Given the description of an element on the screen output the (x, y) to click on. 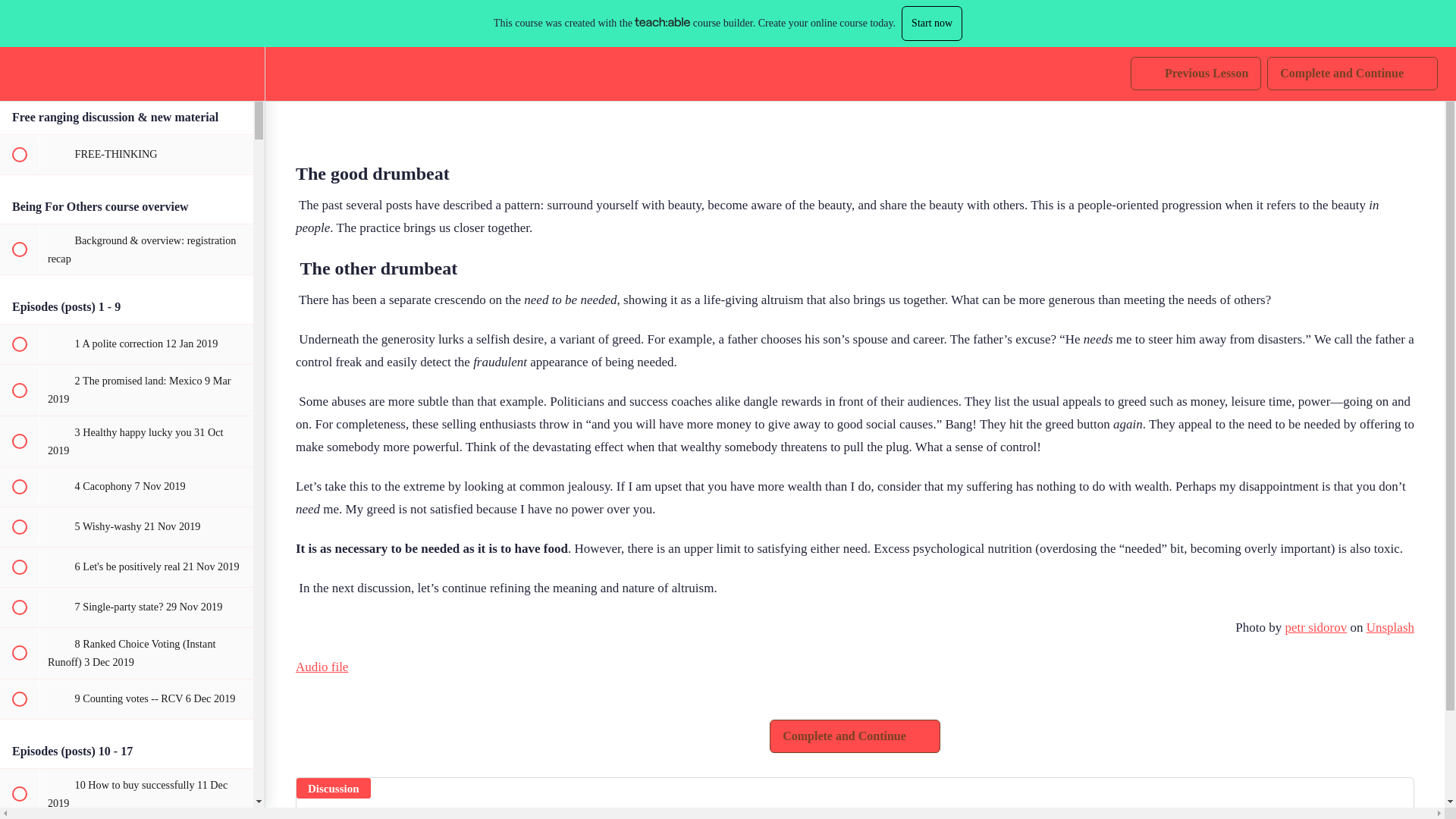
  Previous Lesson (1195, 25)
  5 Wishy-washy 21 Nov 2019 (126, 526)
  2 The promised land: Mexico 9 Mar 2019 (126, 389)
  1 A polite correction 12 Jan 2019 (126, 343)
Back to course curriculum (17, 25)
Settings Menu (1352, 25)
  3 Healthy happy lucky you 31 Oct 2019 (244, 25)
  FREE-THINKING (126, 441)
  9 Counting votes -- RCV 6 Dec 2019 (126, 154)
